Given the description of an element on the screen output the (x, y) to click on. 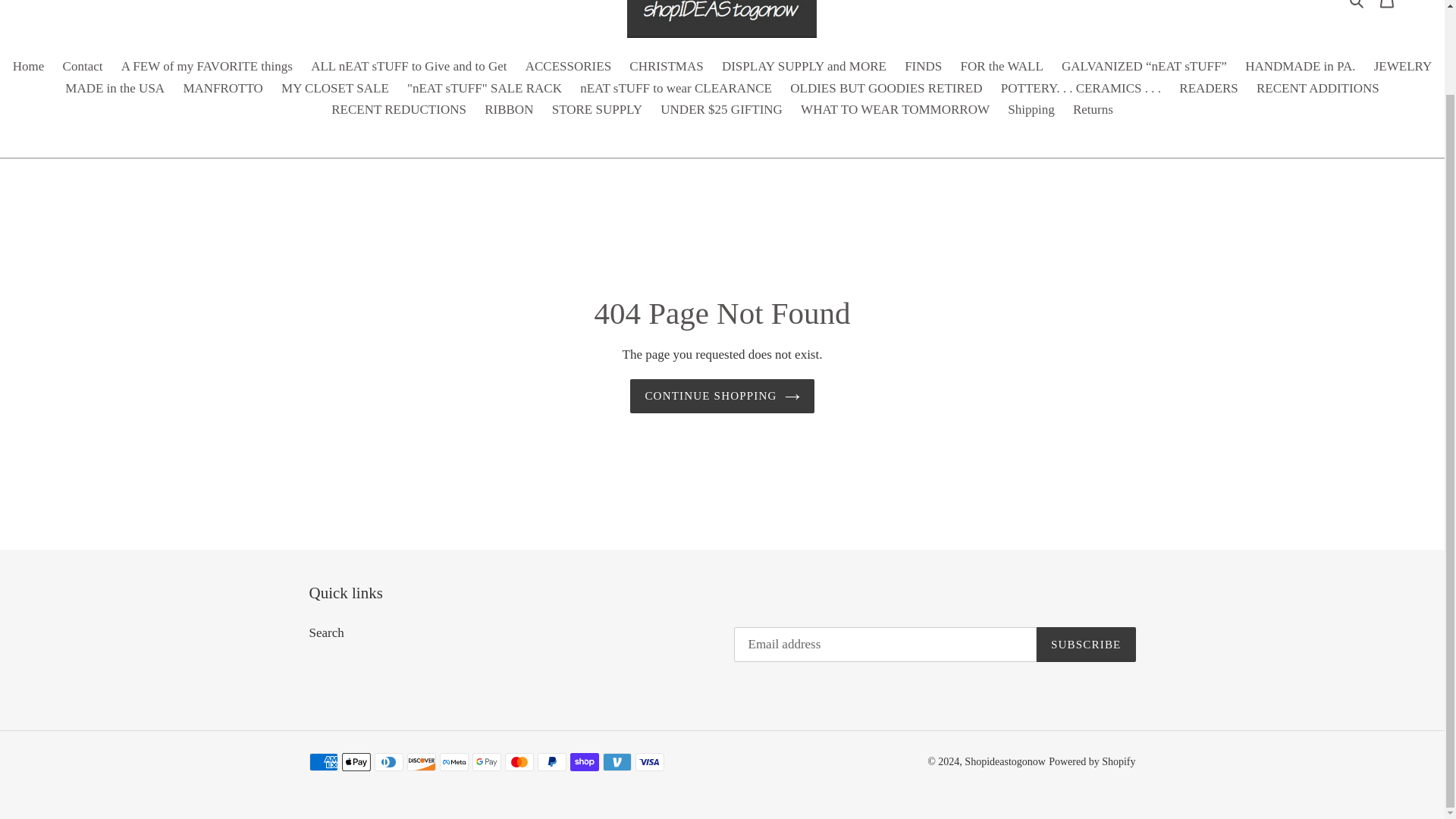
Contact (82, 67)
Search (1357, 5)
Cart (1387, 8)
Home (28, 67)
